Given the description of an element on the screen output the (x, y) to click on. 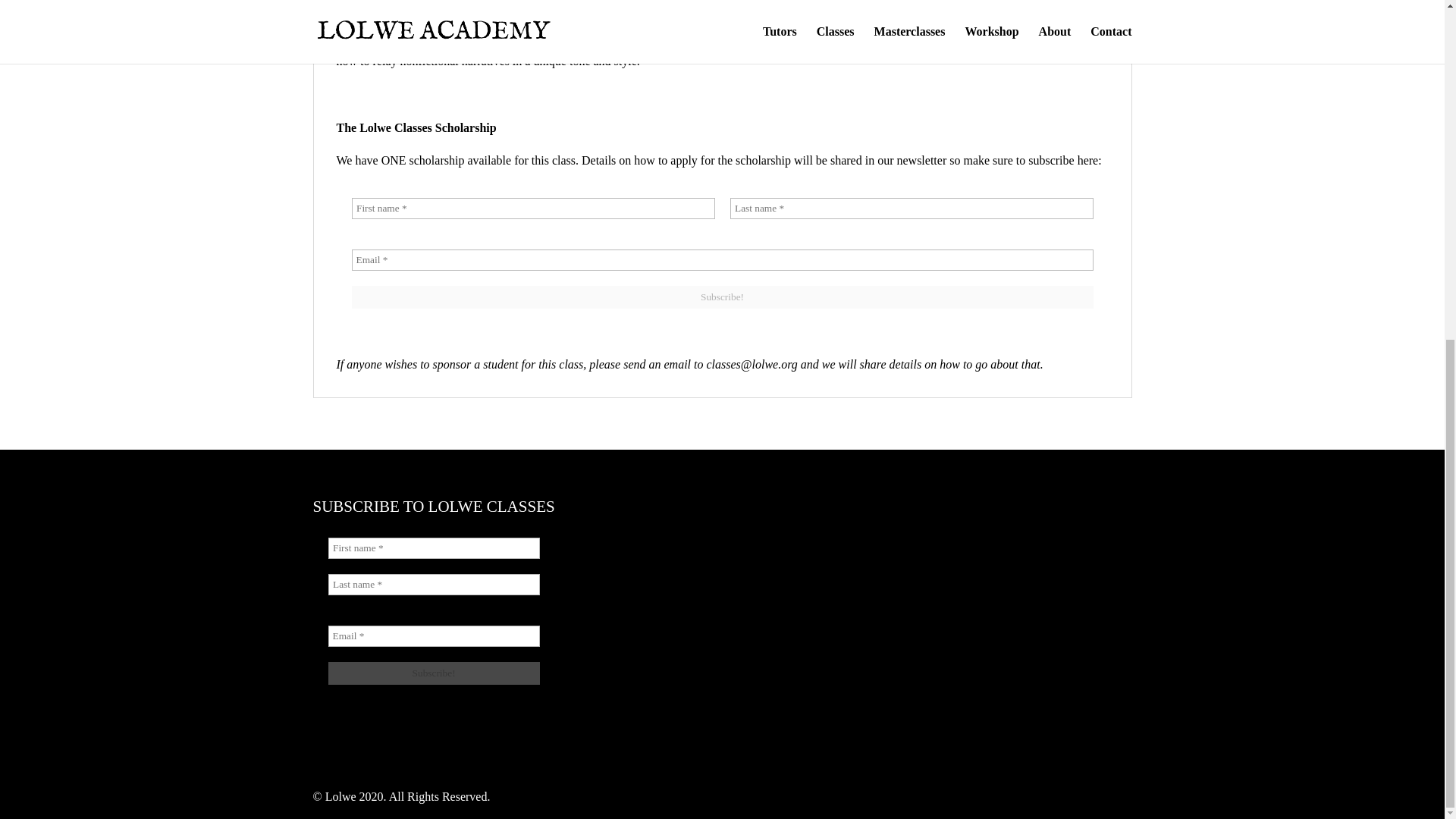
Subscribe! (722, 296)
Subscribe! (432, 672)
Email (432, 636)
First name (533, 208)
Subscribe! (722, 296)
Email (722, 260)
First name (432, 547)
Last name (911, 208)
Subscribe! (432, 672)
Last name (432, 584)
